Given the description of an element on the screen output the (x, y) to click on. 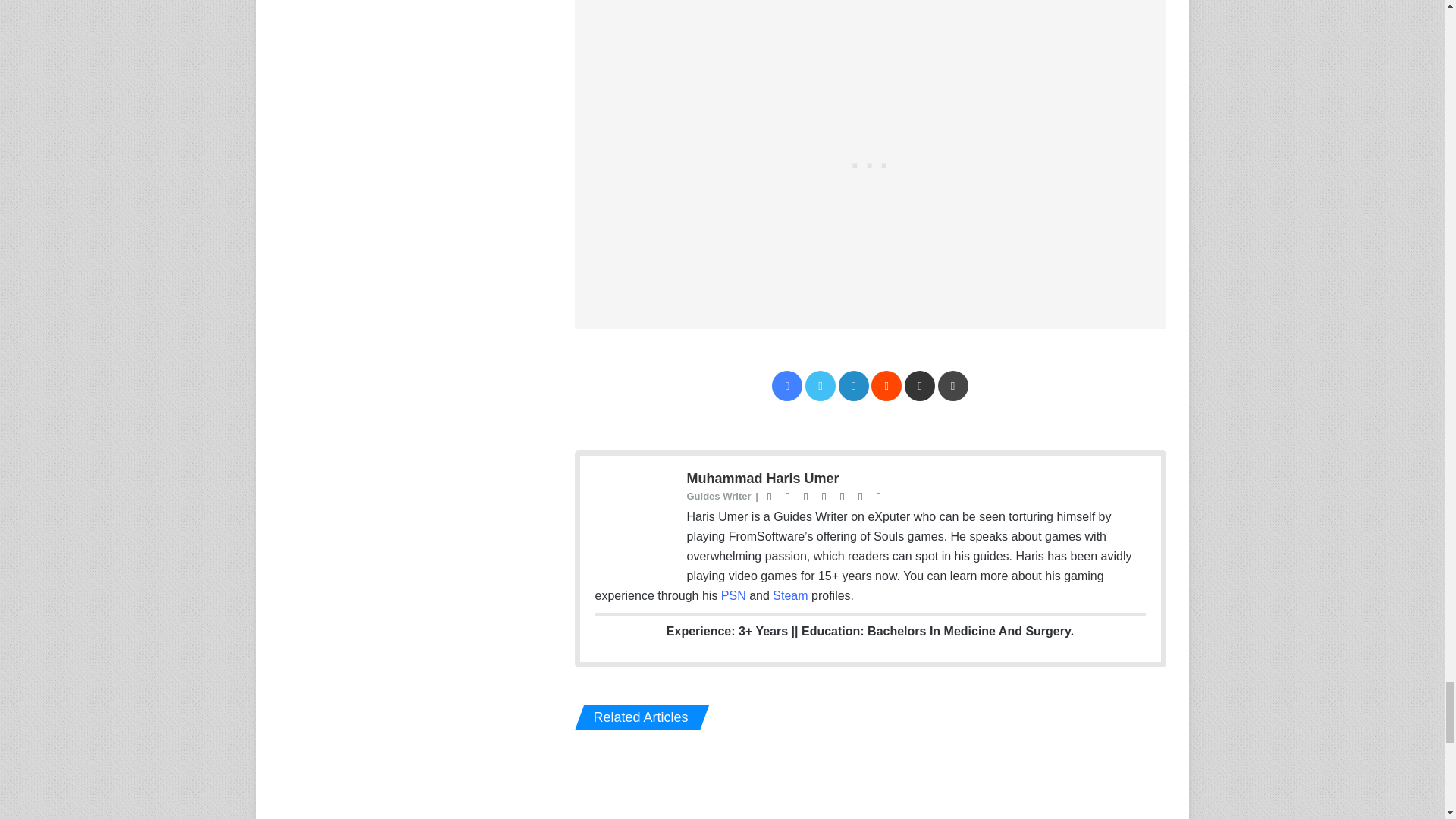
Facebook (786, 386)
LinkedIn (853, 386)
Reddit (885, 386)
Twitter (820, 386)
Print (952, 386)
Share via Email (919, 386)
